Given the description of an element on the screen output the (x, y) to click on. 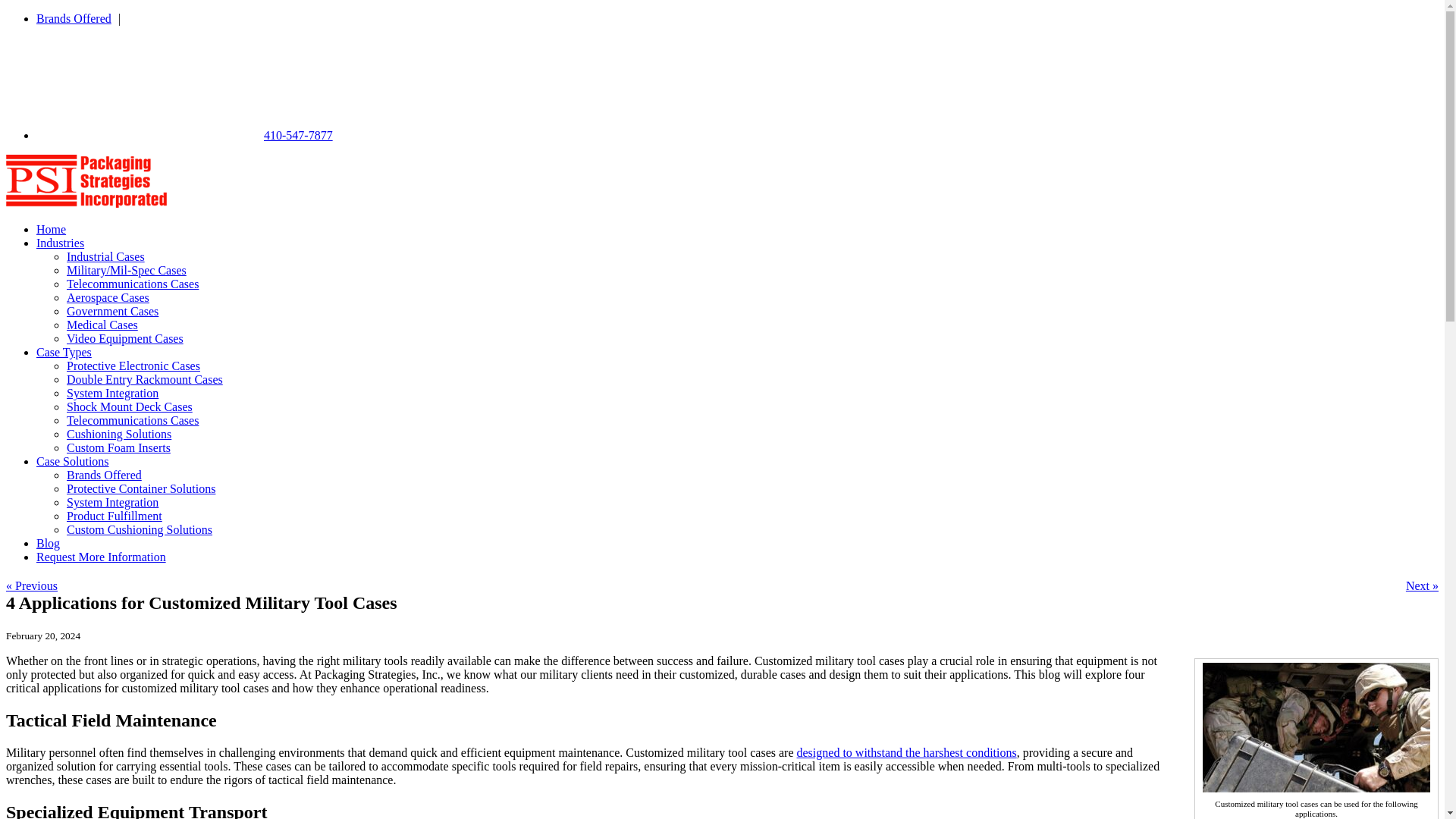
Request More Information (100, 556)
System Integration (112, 392)
Product Fulfillment (113, 515)
Brands Offered (75, 18)
Aerospace Cases (107, 297)
Shock Mount Deck Cases (129, 406)
designed to withstand the harshest conditions (906, 752)
Medical Cases (102, 324)
Brands Offered (103, 474)
Government Cases (112, 310)
